Given the description of an element on the screen output the (x, y) to click on. 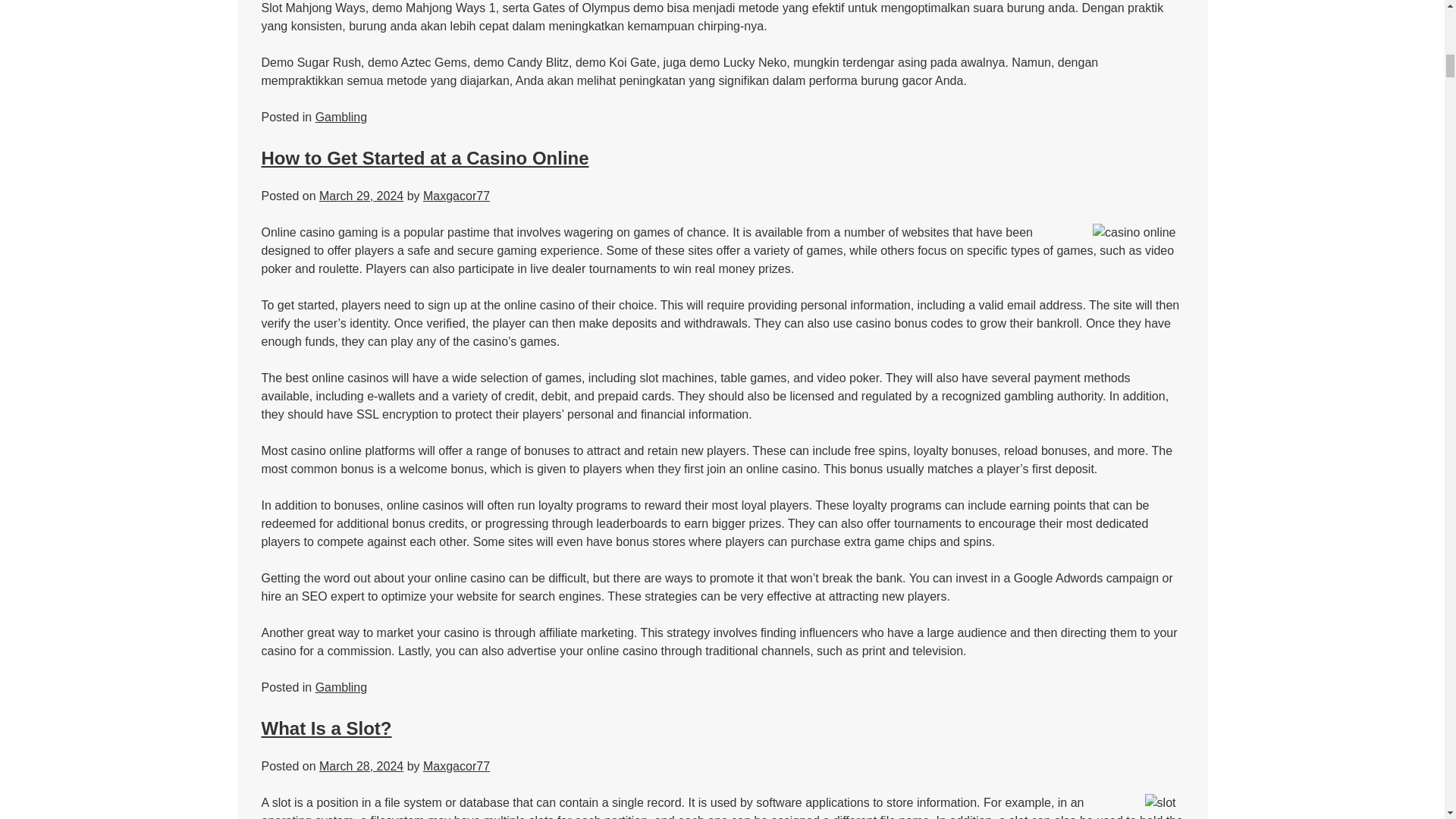
Gambling (340, 686)
Maxgacor77 (456, 195)
Maxgacor77 (456, 766)
How to Get Started at a Casino Online (424, 158)
March 28, 2024 (360, 766)
March 29, 2024 (360, 195)
Gambling (340, 116)
What Is a Slot? (325, 728)
